Given the description of an element on the screen output the (x, y) to click on. 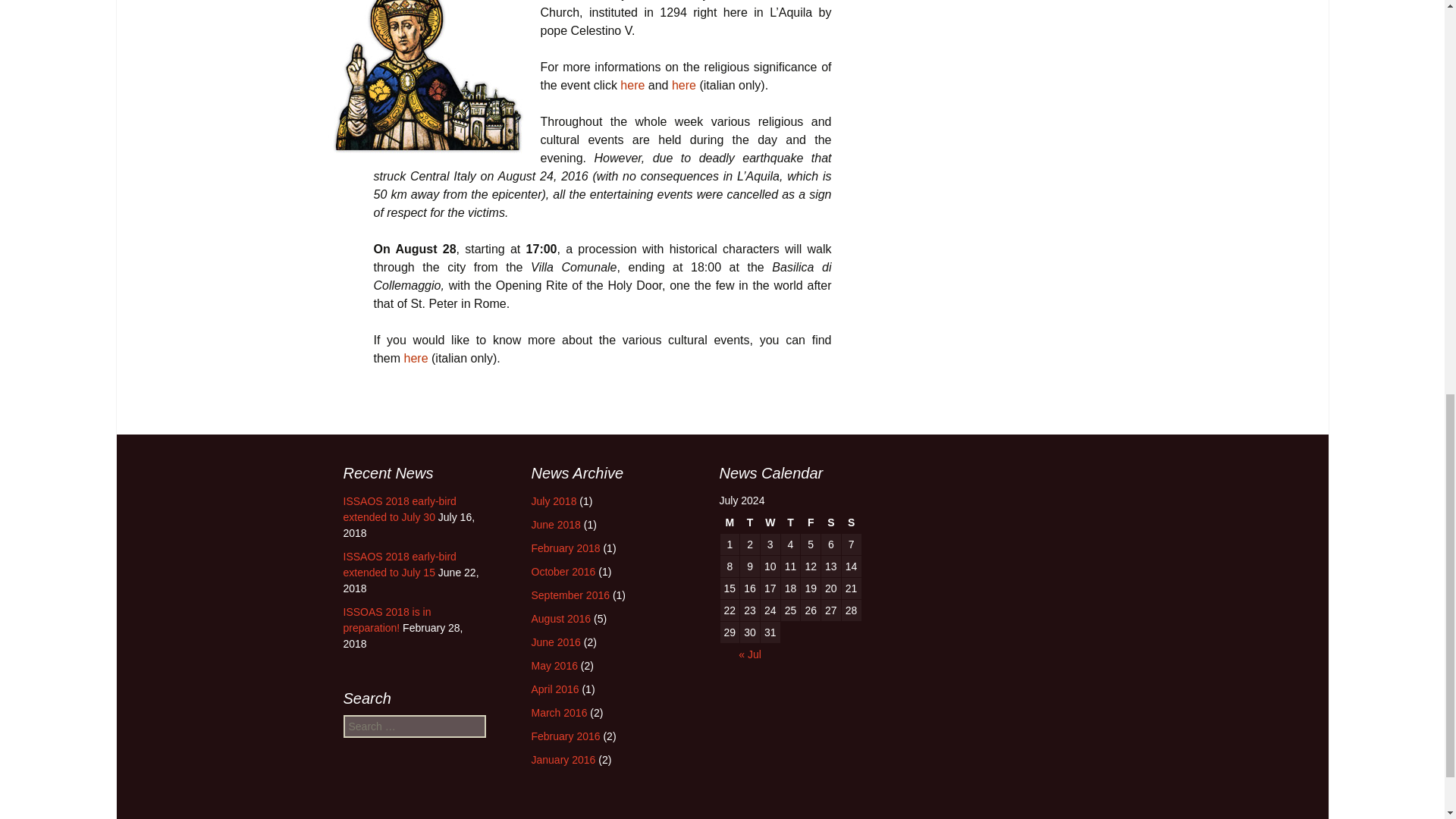
Friday (810, 522)
Tuesday (749, 522)
Thursday (790, 522)
Monday (729, 522)
Saturday (831, 522)
Sunday (851, 522)
Search for: (413, 725)
Wednesday (770, 522)
